Given the description of an element on the screen output the (x, y) to click on. 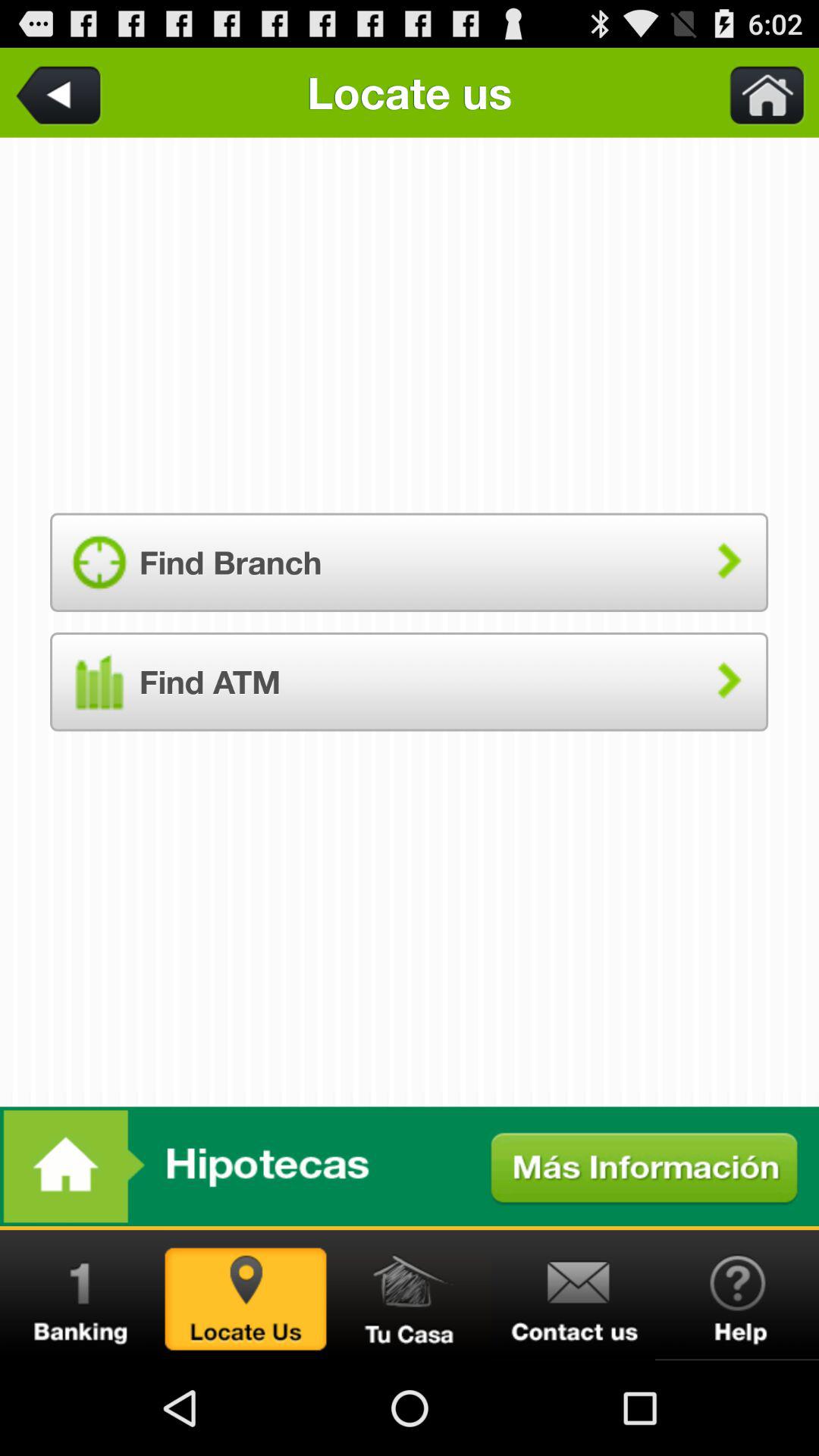
go to banking menu (81, 1295)
